Given the description of an element on the screen output the (x, y) to click on. 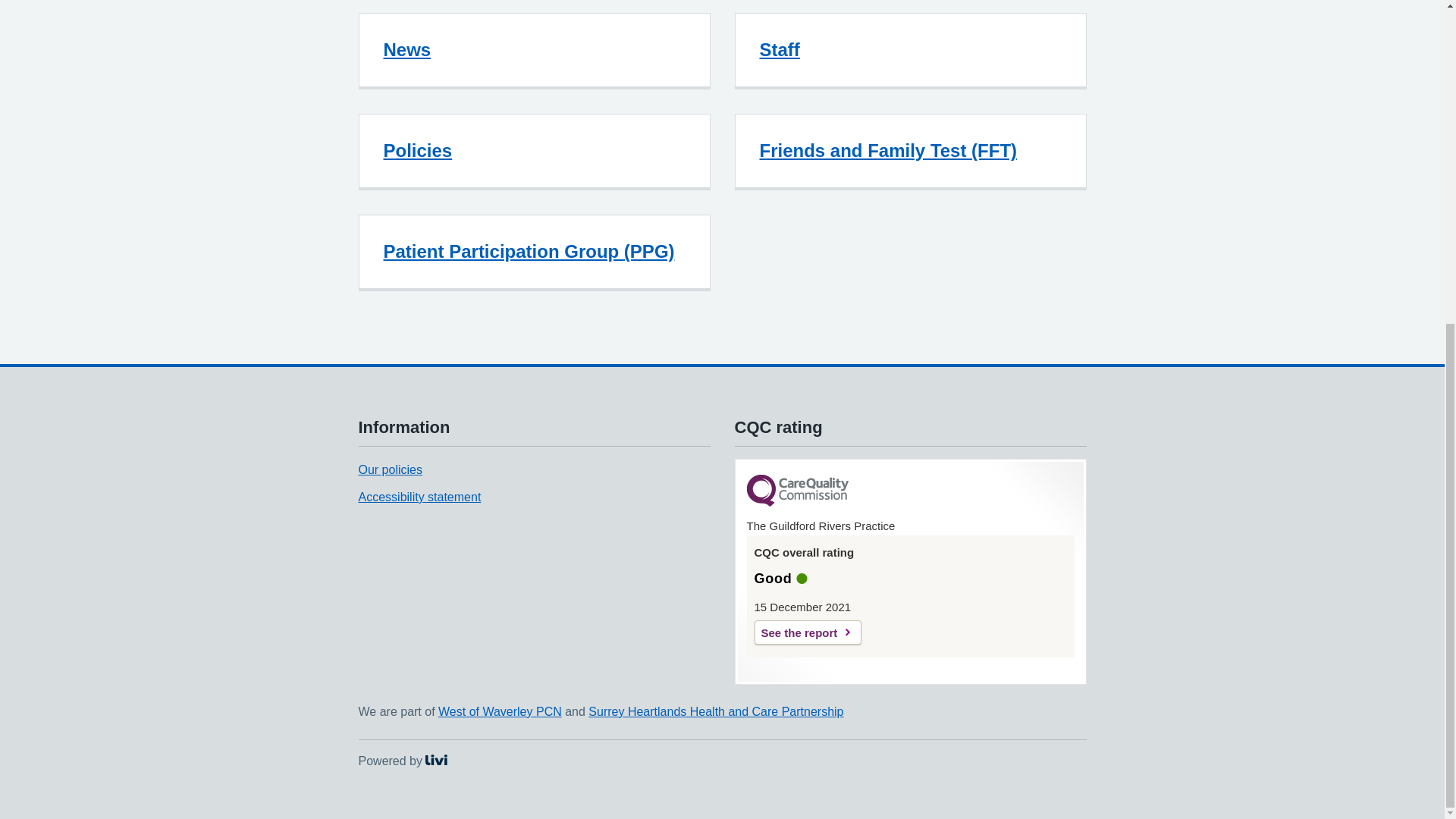
West of Waverley PCN (500, 711)
Surrey Heartlands Health and Care Partnership (715, 711)
Staff (779, 49)
See the report (807, 631)
Our policies (390, 469)
Policies (418, 150)
Accessibility statement (419, 496)
News (402, 760)
CQC Logo (407, 49)
